Given the description of an element on the screen output the (x, y) to click on. 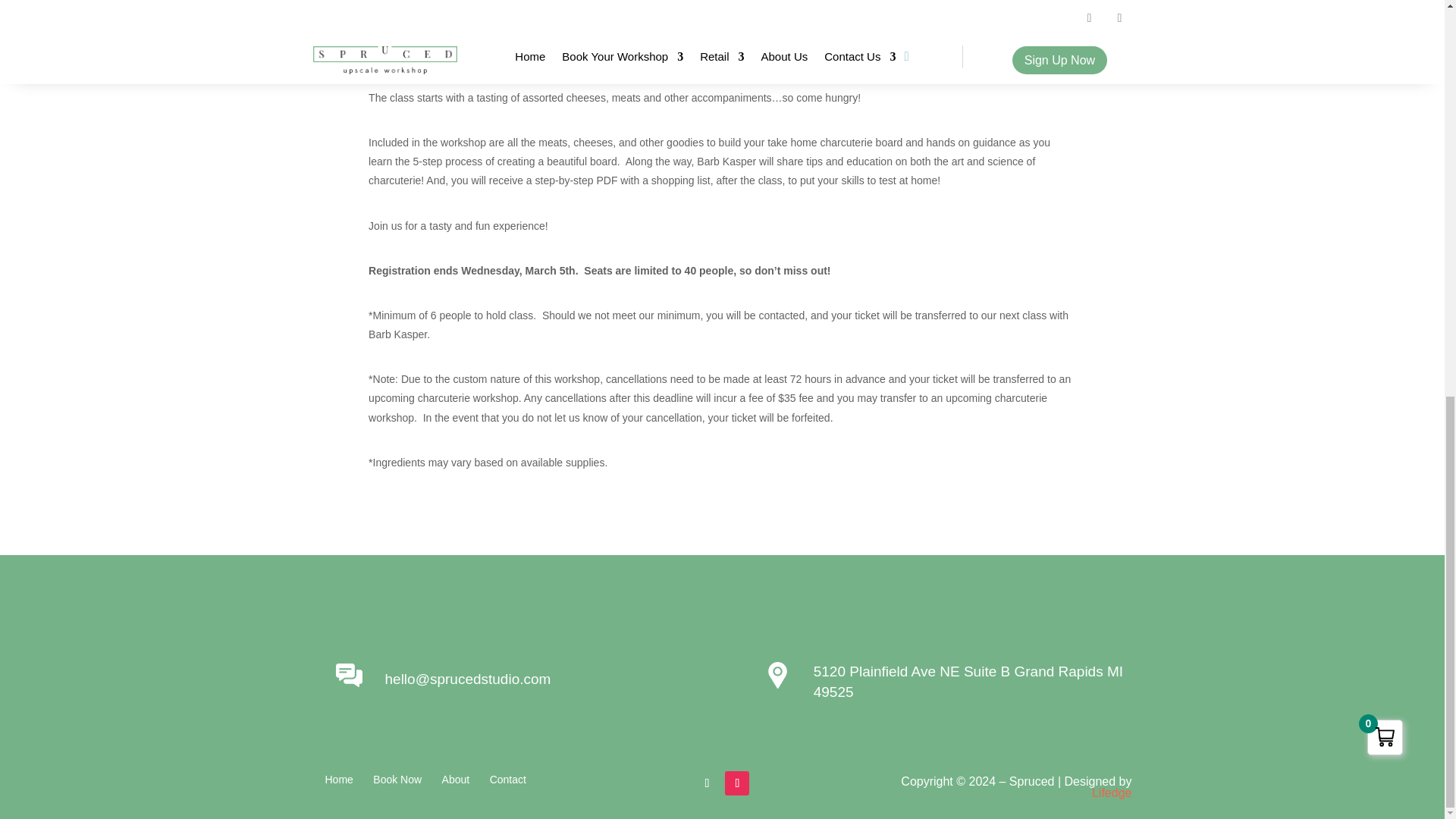
Follow on Instagram (737, 783)
Follow on Facebook (706, 783)
